Given the description of an element on the screen output the (x, y) to click on. 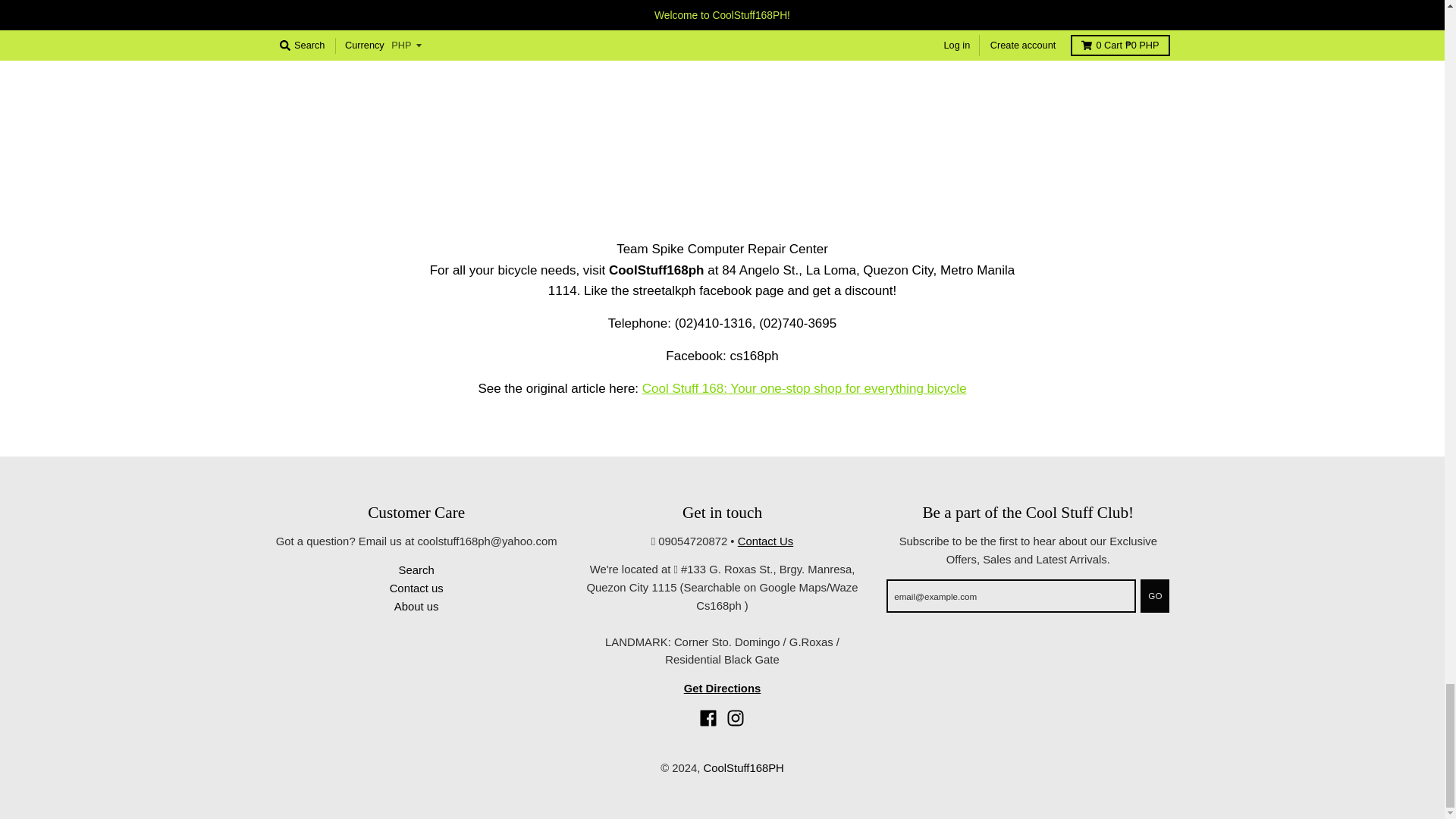
Facebook - CoolStuff168PH  (707, 718)
Instagram - CoolStuff168PH  (735, 718)
Cool Stuff 168: Your one-stop shop for everything bicycle (804, 388)
